Given the description of an element on the screen output the (x, y) to click on. 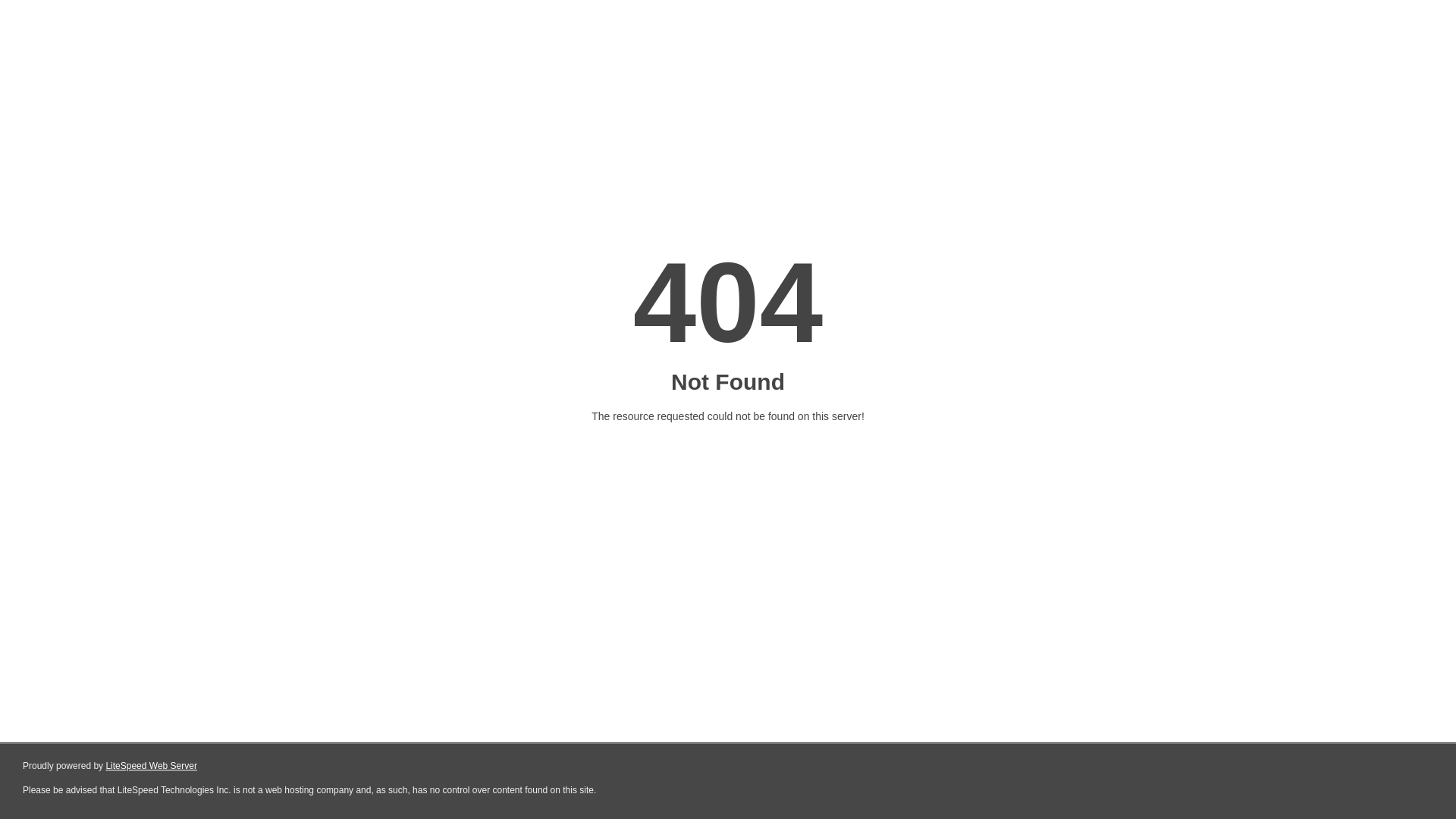
LiteSpeed Web Server Element type: text (151, 765)
